Given the description of an element on the screen output the (x, y) to click on. 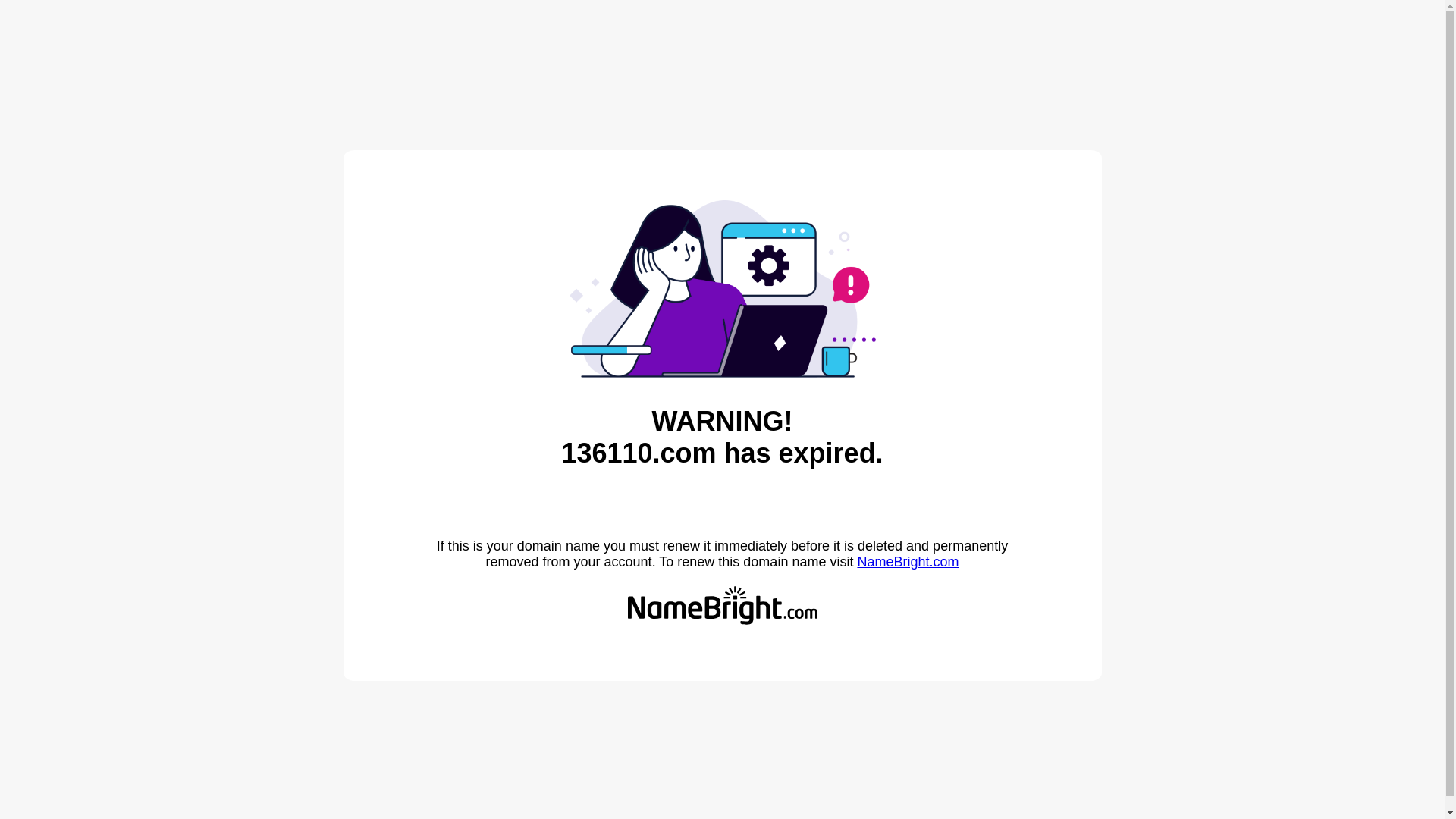
NameBright.com Element type: text (907, 561)
